Given the description of an element on the screen output the (x, y) to click on. 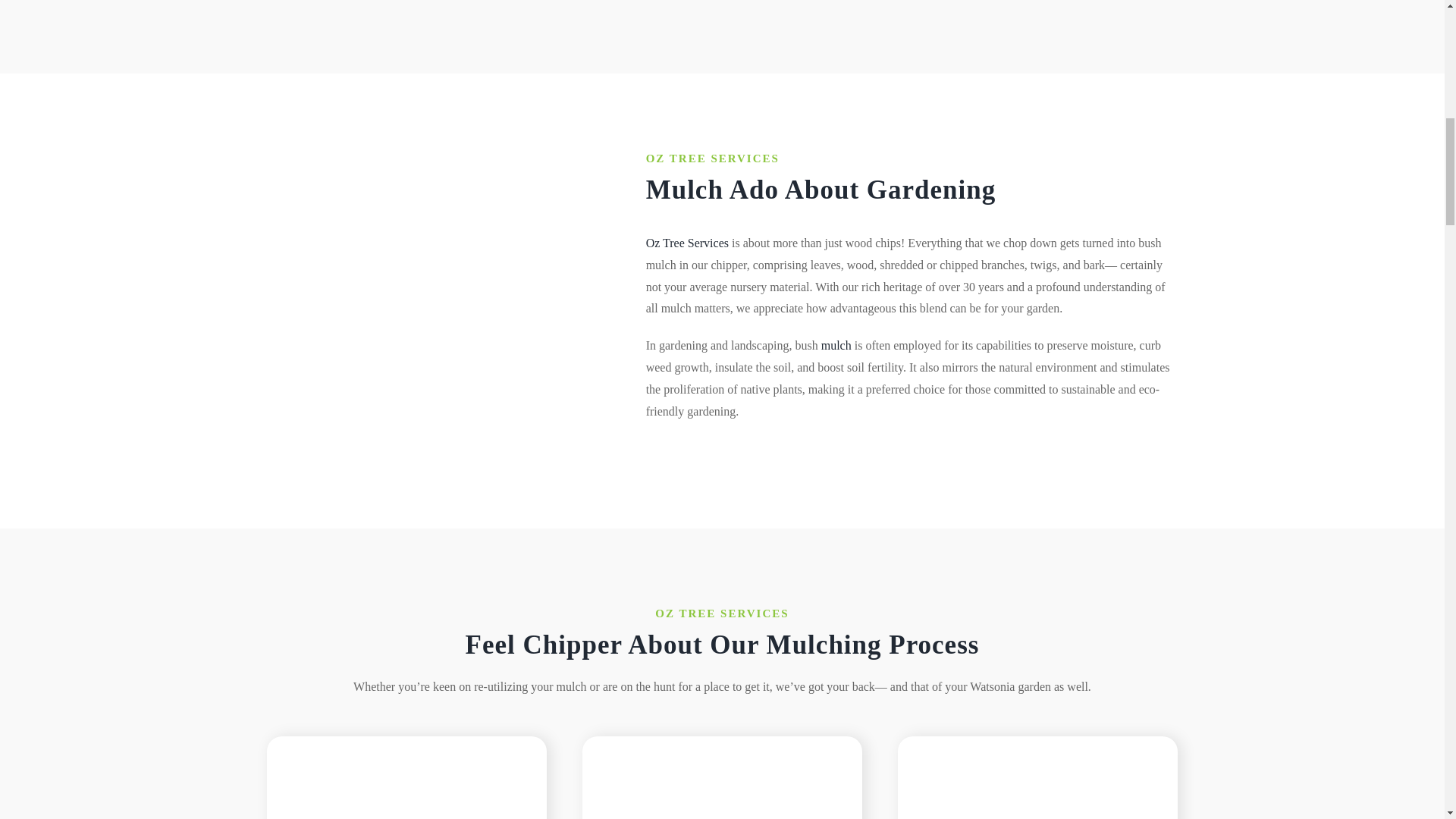
mulch (836, 345)
Wood chipping services Watsonia (1037, 789)
Wood Chipping Watsonia (721, 789)
Oz Tree Services (687, 242)
Mulching Services Watsonia (437, 285)
Tree Mulching Watsonia (405, 789)
